Given the description of an element on the screen output the (x, y) to click on. 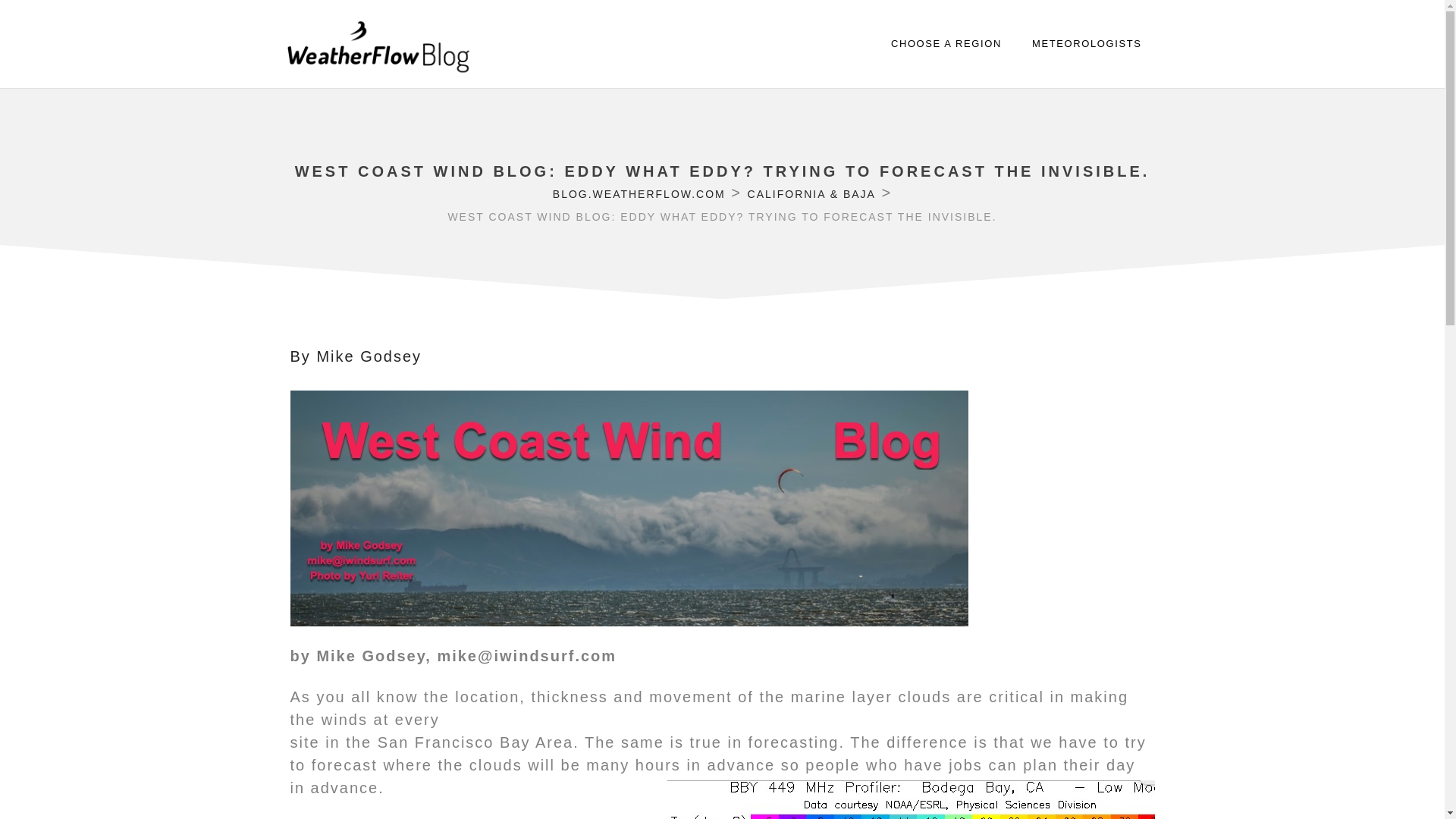
Go to Blog.WeatherFlow.com. (639, 194)
CHOOSE A REGION (946, 43)
METEOROLOGISTS (1086, 43)
